Given the description of an element on the screen output the (x, y) to click on. 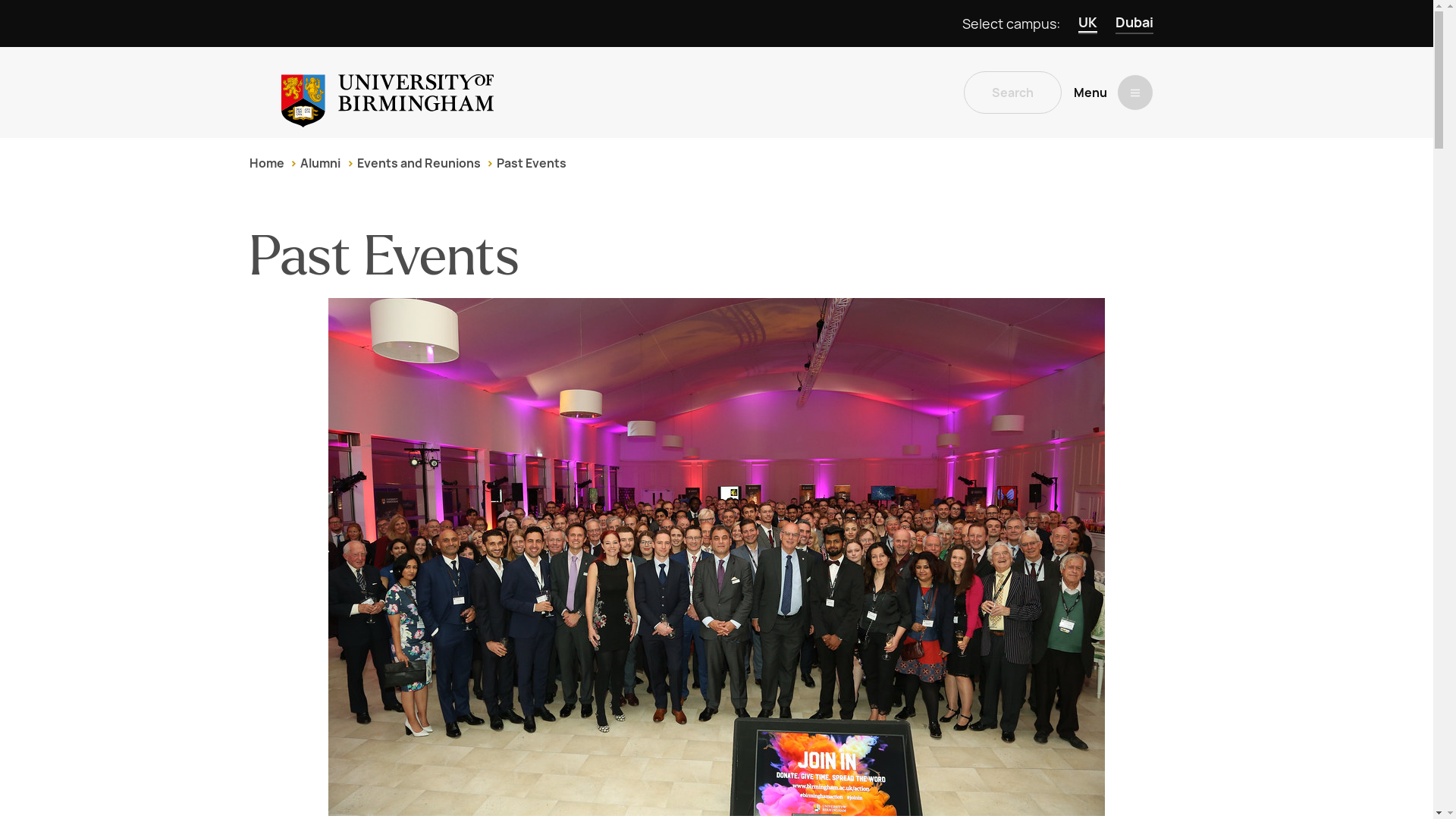
Alumni (319, 162)
Past Events (531, 162)
Search (1012, 92)
Dubai (1134, 23)
UK (1087, 23)
Home (265, 162)
Events and Reunions (418, 162)
